Given the description of an element on the screen output the (x, y) to click on. 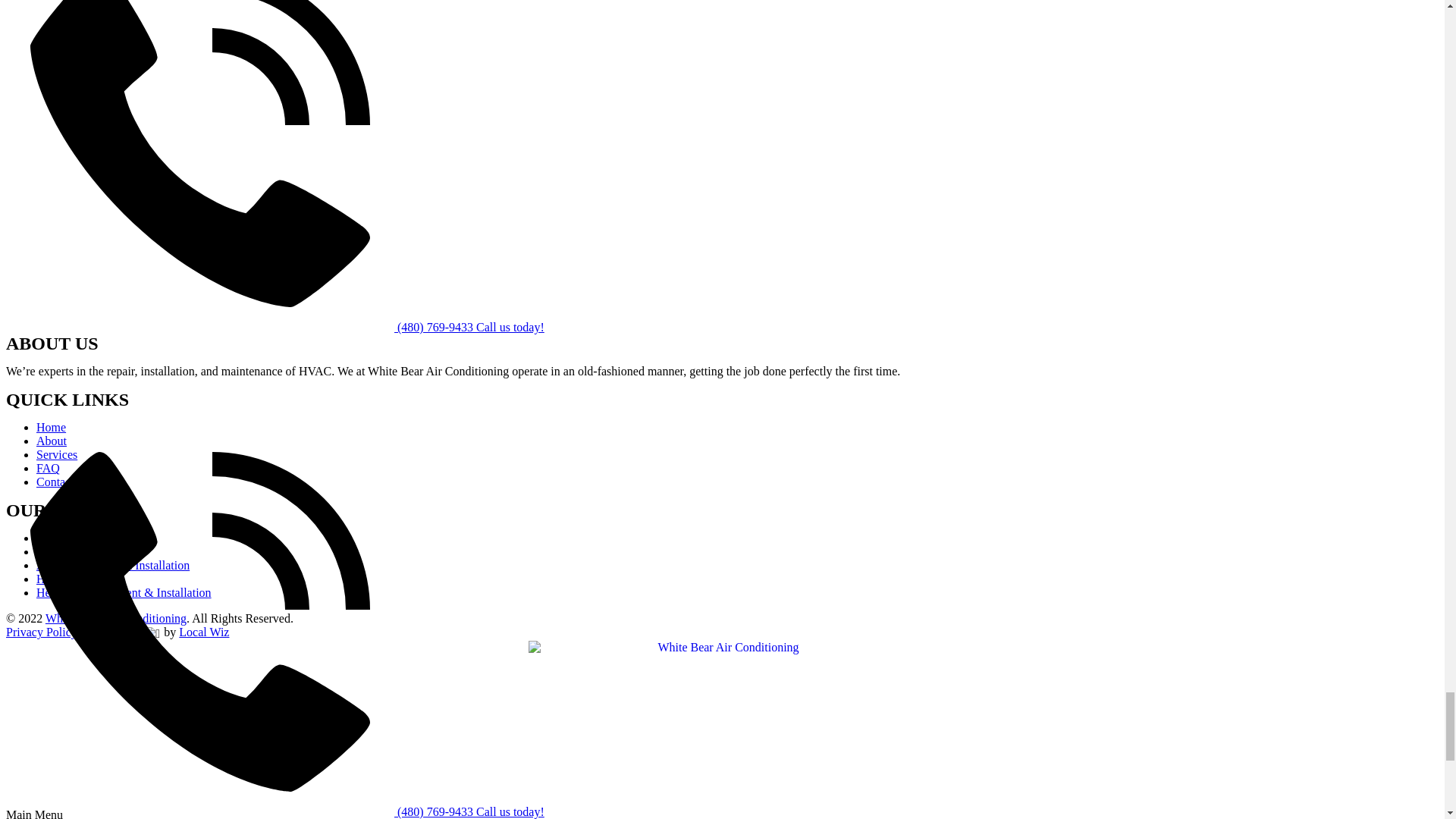
Home (50, 427)
AC Maintenance (77, 551)
AC Repair (62, 537)
About (51, 440)
FAQ (47, 468)
Contact Us (63, 481)
Services (56, 454)
